Given the description of an element on the screen output the (x, y) to click on. 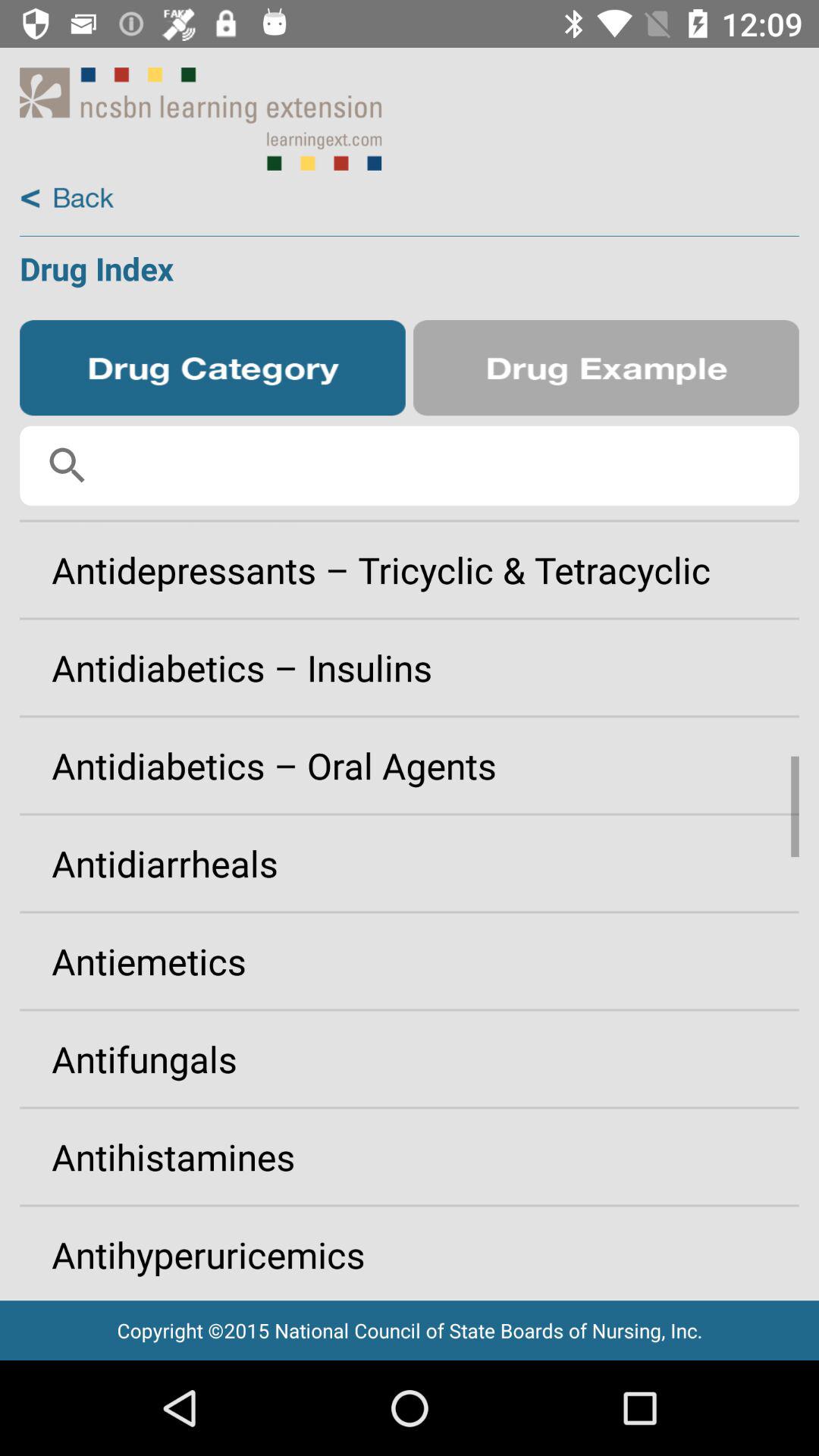
tap antifungals (409, 1058)
